Given the description of an element on the screen output the (x, y) to click on. 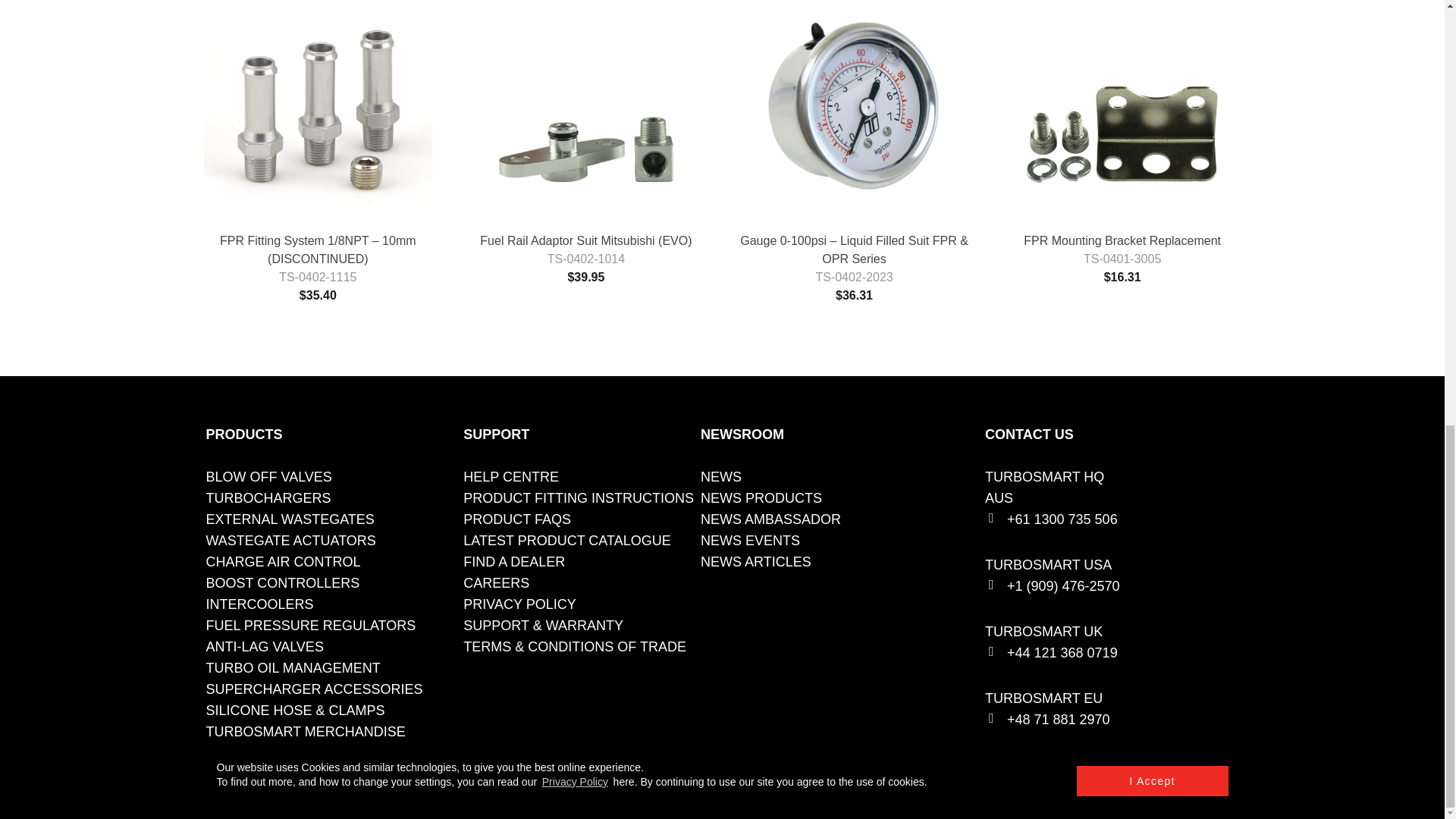
Privacy Policy (519, 604)
